Given the description of an element on the screen output the (x, y) to click on. 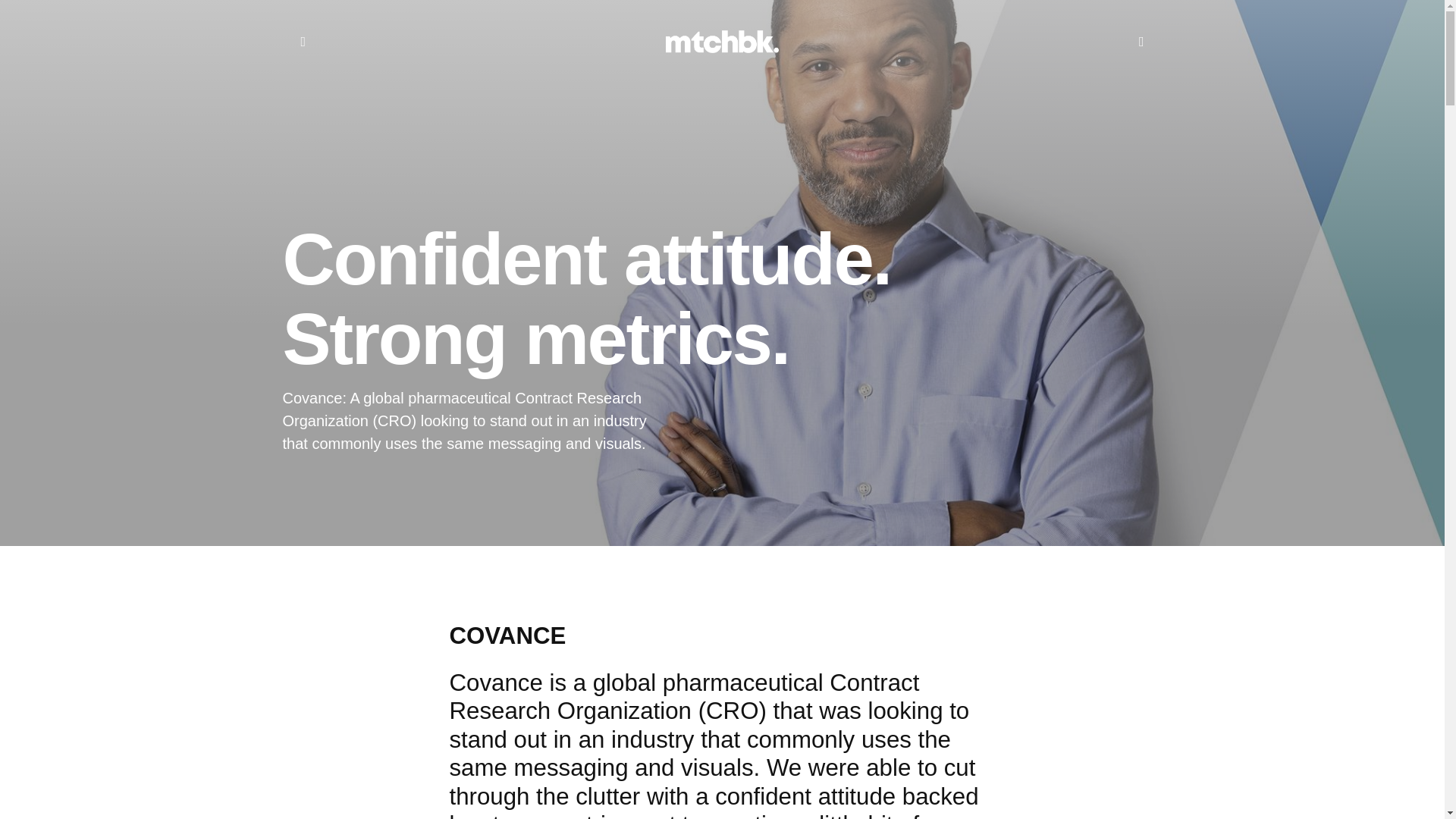
mtchbk (721, 41)
